Given the description of an element on the screen output the (x, y) to click on. 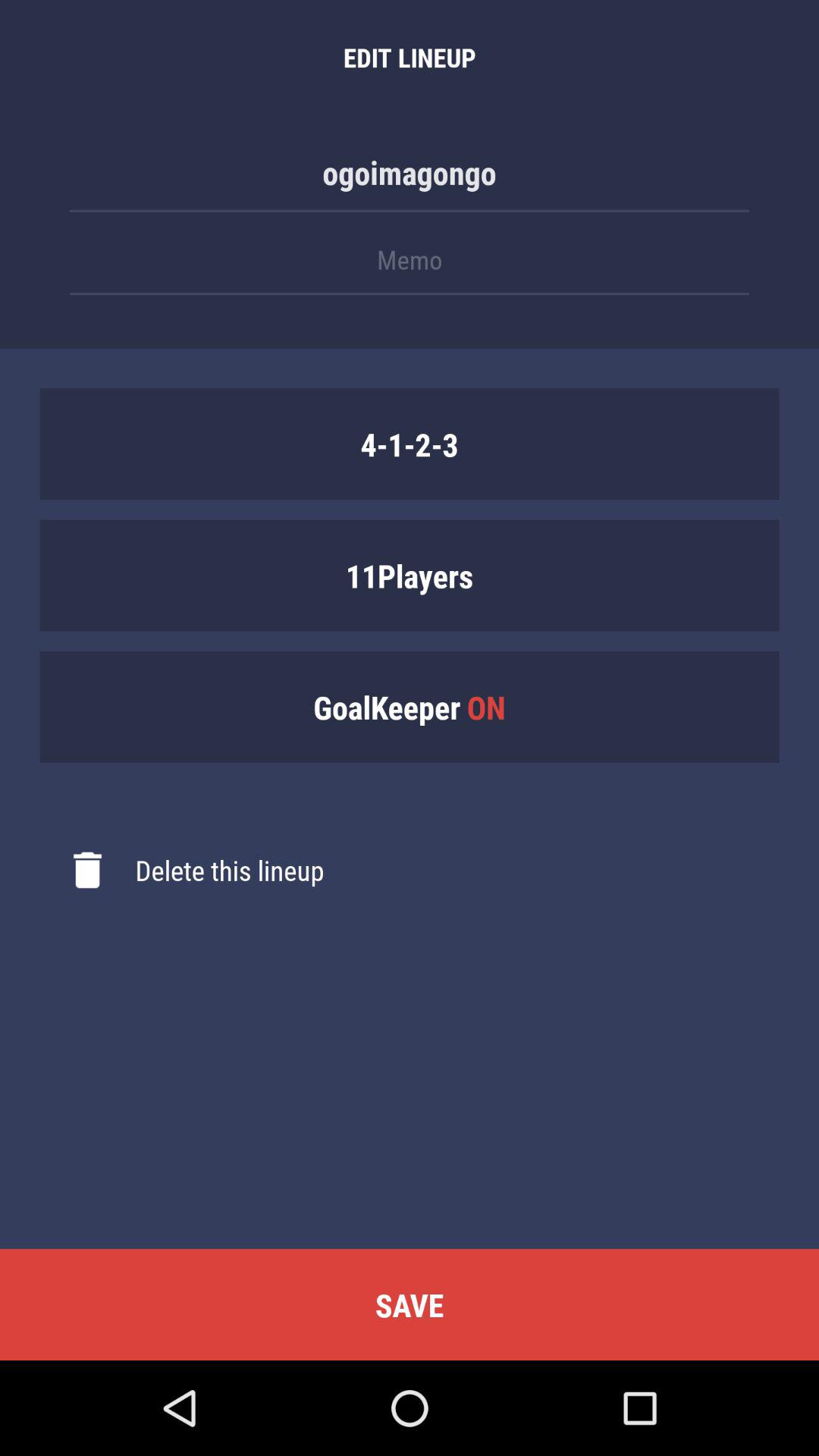
click the item above the 4 1 2 icon (409, 266)
